Given the description of an element on the screen output the (x, y) to click on. 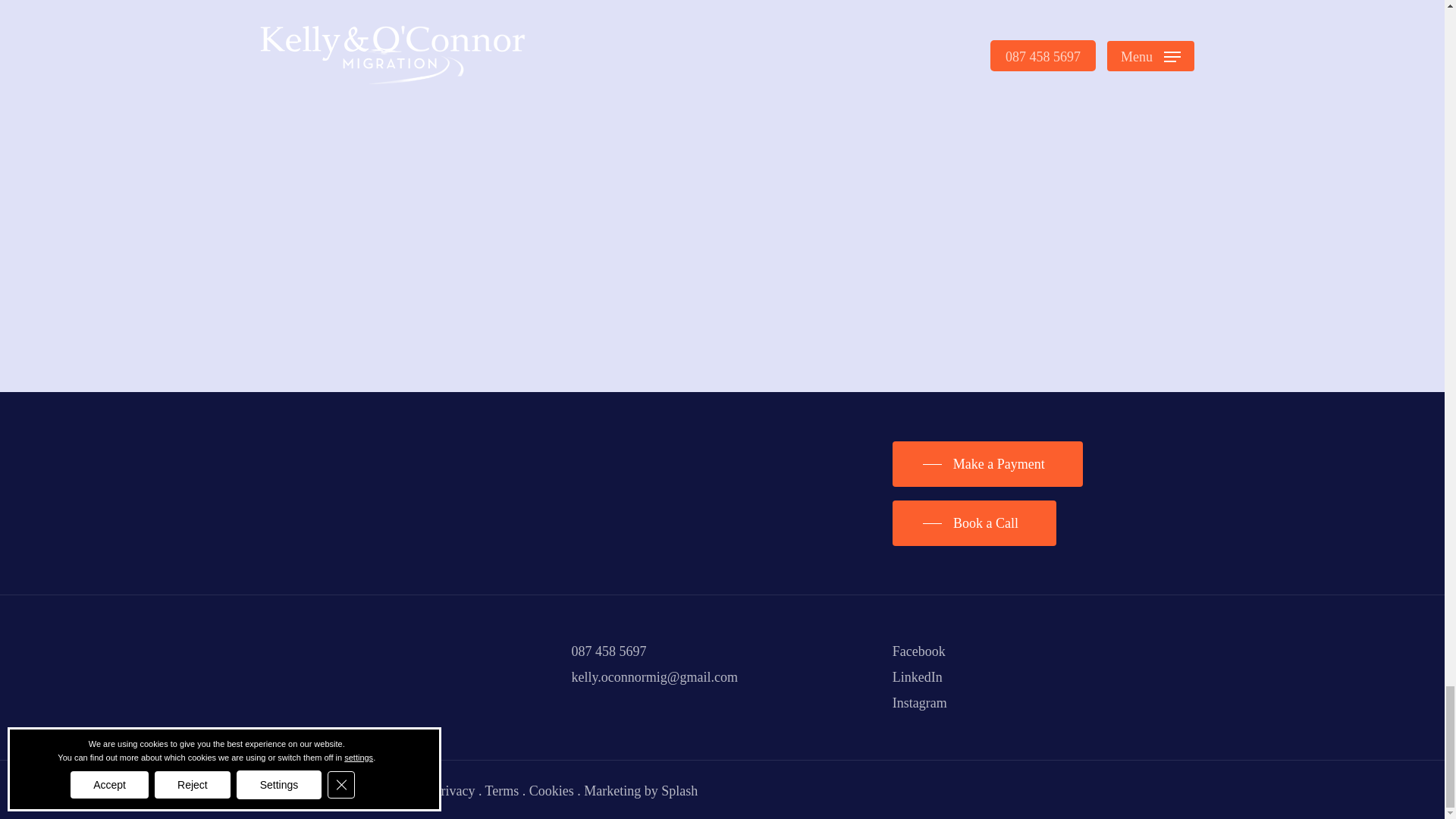
Make a Payment (987, 463)
087 458 5697 (609, 651)
LinkedIn (917, 676)
Privacy (453, 790)
Instagram (919, 702)
Marketing by Splash (640, 790)
Terms (501, 790)
Book a Call (974, 523)
Cookies (551, 790)
Facebook (918, 651)
